Given the description of an element on the screen output the (x, y) to click on. 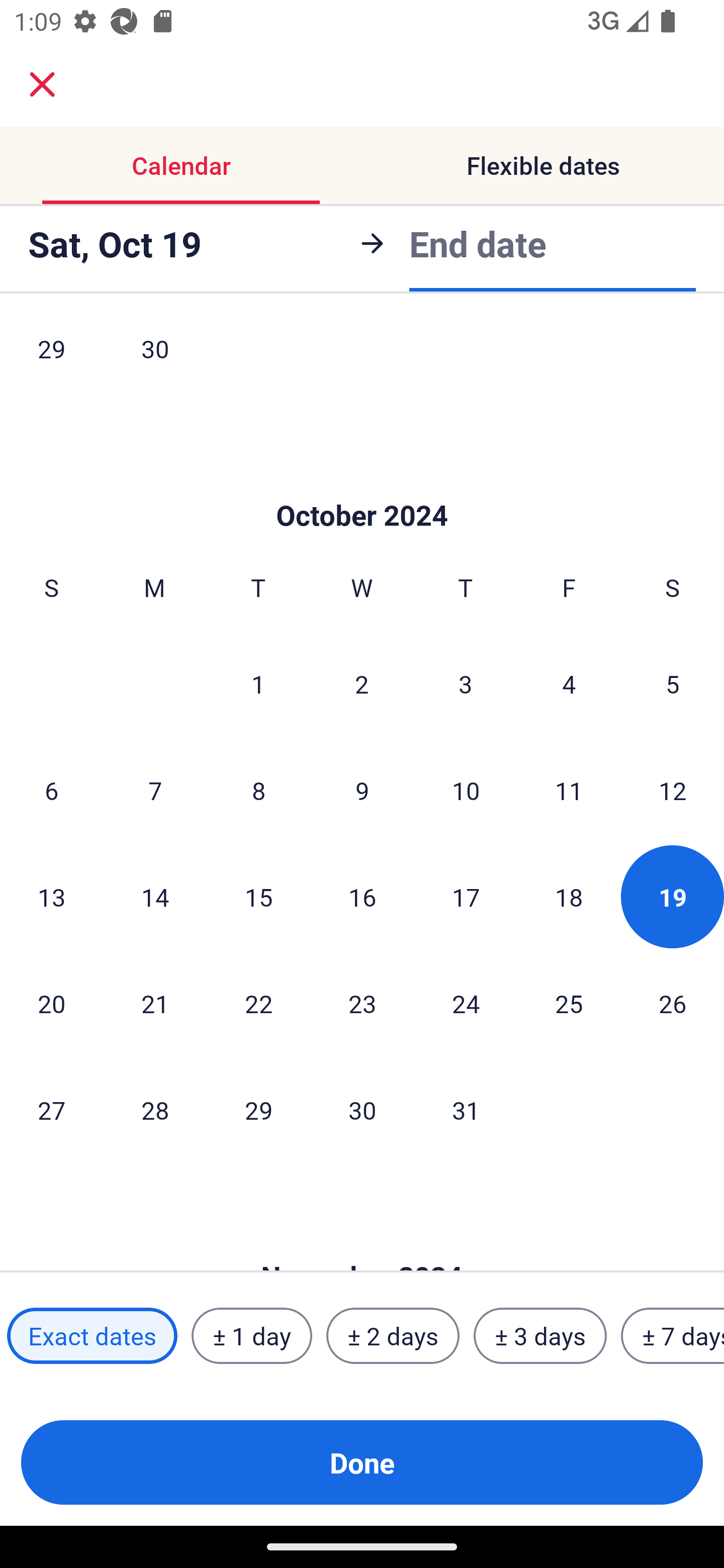
close. (42, 84)
Flexible dates (542, 164)
End date (477, 243)
29 Sunday, September 29, 2024 (51, 360)
30 Monday, September 30, 2024 (155, 360)
Skip to Done (362, 485)
1 Tuesday, October 1, 2024 (257, 683)
2 Wednesday, October 2, 2024 (361, 683)
3 Thursday, October 3, 2024 (465, 683)
4 Friday, October 4, 2024 (569, 683)
5 Saturday, October 5, 2024 (672, 683)
6 Sunday, October 6, 2024 (51, 790)
7 Monday, October 7, 2024 (155, 790)
8 Tuesday, October 8, 2024 (258, 790)
9 Wednesday, October 9, 2024 (362, 790)
10 Thursday, October 10, 2024 (465, 790)
11 Friday, October 11, 2024 (569, 790)
12 Saturday, October 12, 2024 (672, 790)
13 Sunday, October 13, 2024 (51, 896)
14 Monday, October 14, 2024 (155, 896)
15 Tuesday, October 15, 2024 (258, 896)
16 Wednesday, October 16, 2024 (362, 896)
17 Thursday, October 17, 2024 (465, 896)
18 Friday, October 18, 2024 (569, 896)
20 Sunday, October 20, 2024 (51, 1003)
21 Monday, October 21, 2024 (155, 1003)
22 Tuesday, October 22, 2024 (258, 1003)
23 Wednesday, October 23, 2024 (362, 1003)
24 Thursday, October 24, 2024 (465, 1003)
25 Friday, October 25, 2024 (569, 1003)
26 Saturday, October 26, 2024 (672, 1003)
27 Sunday, October 27, 2024 (51, 1109)
28 Monday, October 28, 2024 (155, 1109)
29 Tuesday, October 29, 2024 (258, 1109)
30 Wednesday, October 30, 2024 (362, 1109)
31 Thursday, October 31, 2024 (465, 1109)
Exact dates (92, 1335)
± 1 day (251, 1335)
± 2 days (392, 1335)
± 3 days (539, 1335)
± 7 days (672, 1335)
Done (361, 1462)
